Given the description of an element on the screen output the (x, y) to click on. 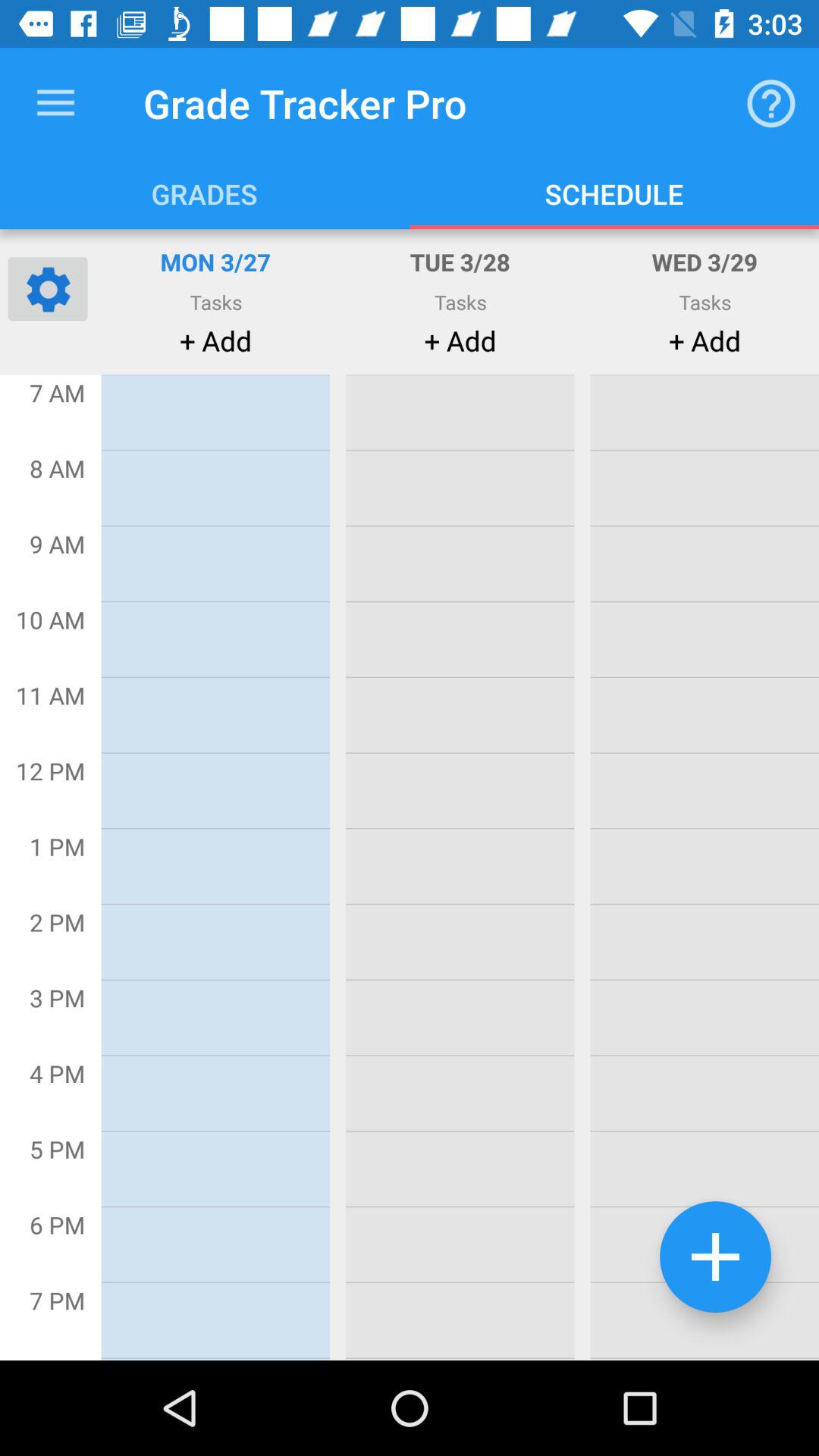
press the item to the left of grade tracker pro item (55, 103)
